Given the description of an element on the screen output the (x, y) to click on. 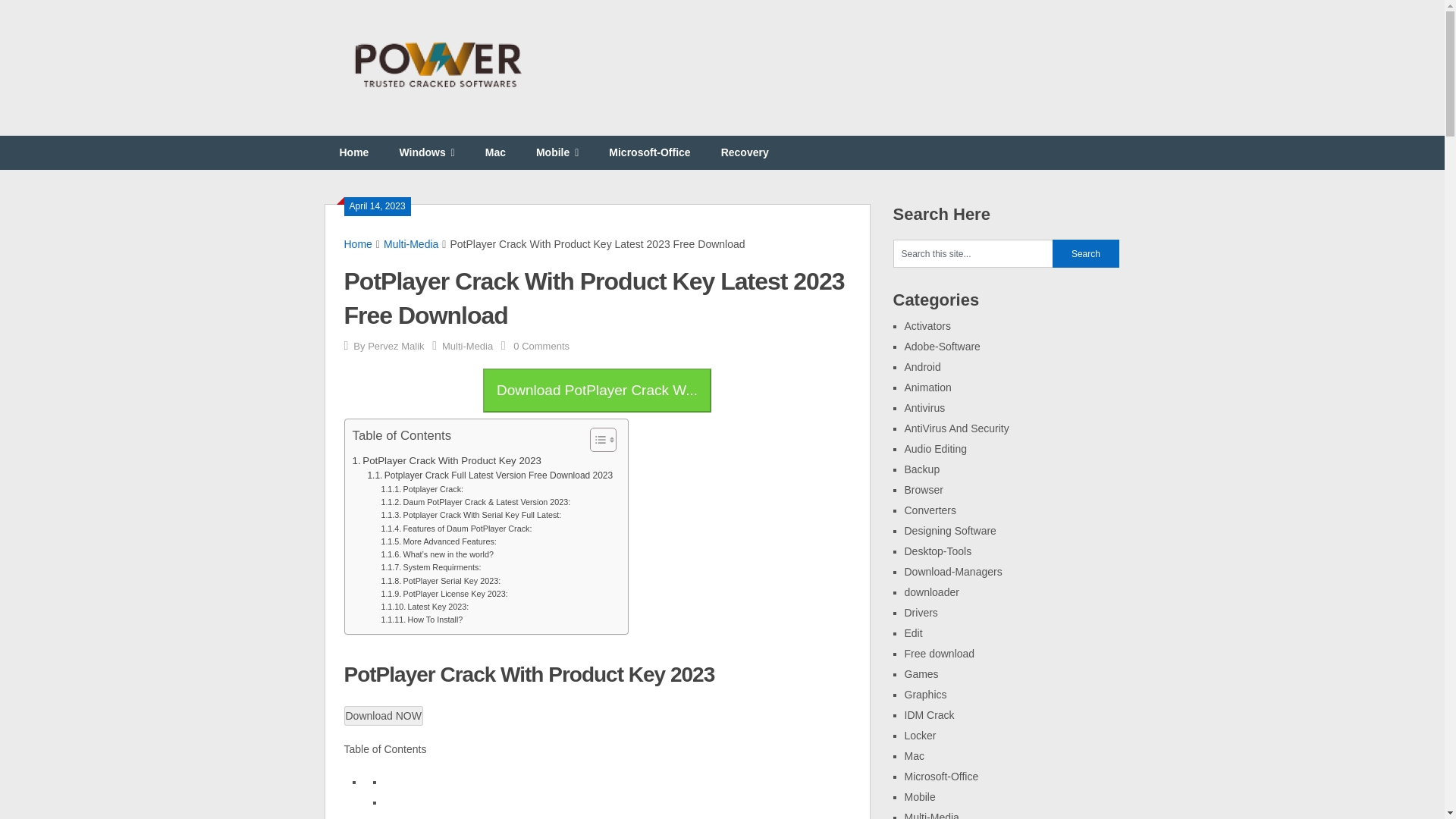
Multi-Media (467, 346)
Potplayer Crack: (421, 489)
Posts by Pervez Malik (395, 346)
Home (354, 152)
Download PotPlayer Crack W... (597, 390)
Home (357, 244)
Features of Daum PotPlayer Crack: (455, 528)
0 Comments (541, 346)
Potplayer Crack Full Latest Version Free Download 2023 (489, 475)
System Requirments: (430, 567)
Multi-Media (411, 244)
Microsoft-Office (649, 152)
Mobile (557, 152)
Search this site... (972, 253)
Potplayer Crack Full Latest Version Free Download 2023 (489, 475)
